Given the description of an element on the screen output the (x, y) to click on. 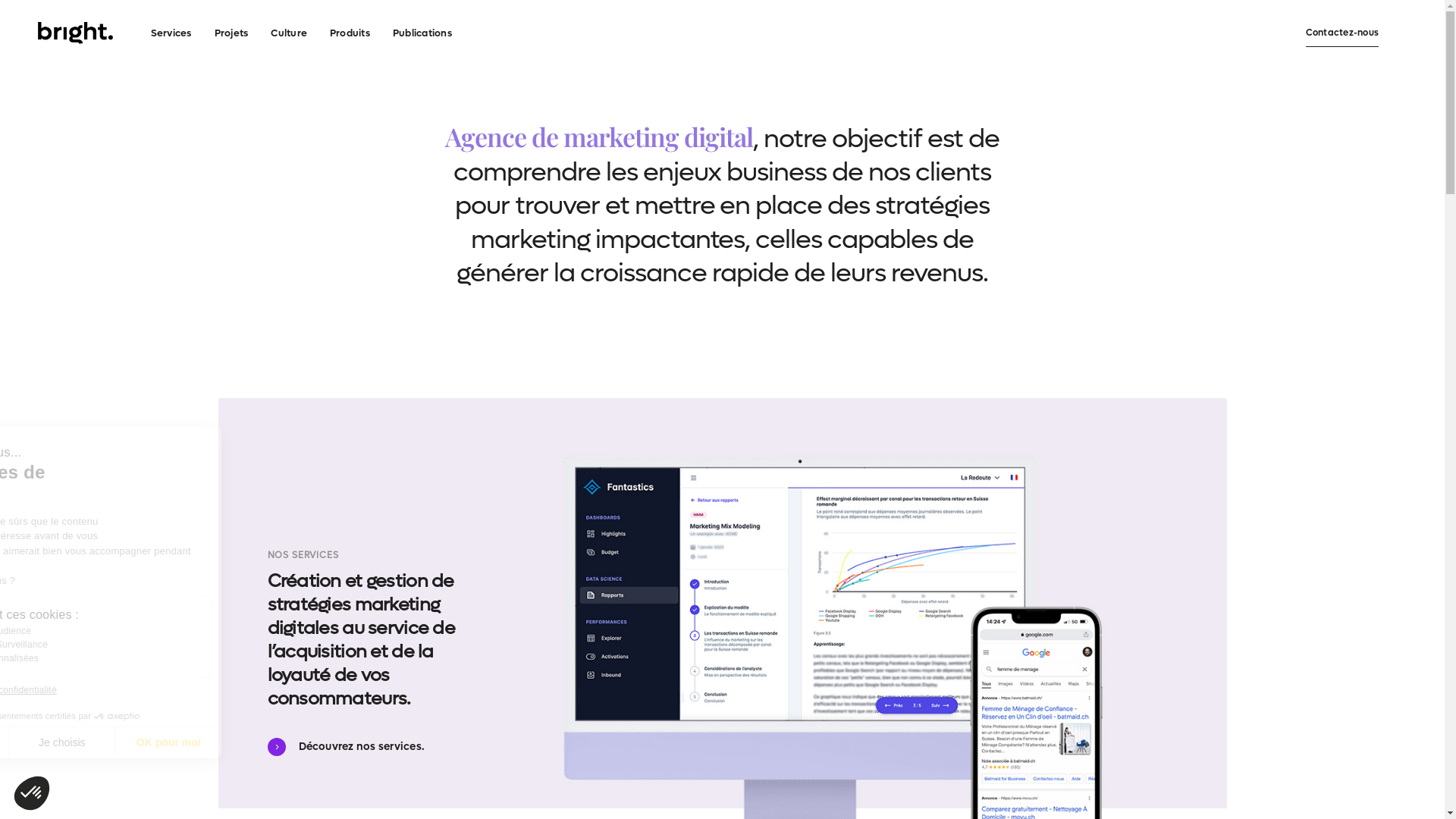
Contactez-nous Element type: text (1341, 32)
Newsletter Element type: text (1142, 547)
Notre approche Element type: text (805, 547)
Nos convictions Element type: text (805, 563)
Publications Element type: text (638, 547)
Contactez-nous Element type: text (1142, 563)
Produits Element type: text (349, 32)
Privacy policy Element type: text (805, 578)
Search Element type: text (48, 16)
Projets Element type: text (231, 32)
Publications Element type: text (421, 32)
Culture Element type: text (288, 32)
LinkedIn Element type: text (1142, 578)
Perspective Element type: text (638, 563)
Services Element type: text (170, 32)
